Given the description of an element on the screen output the (x, y) to click on. 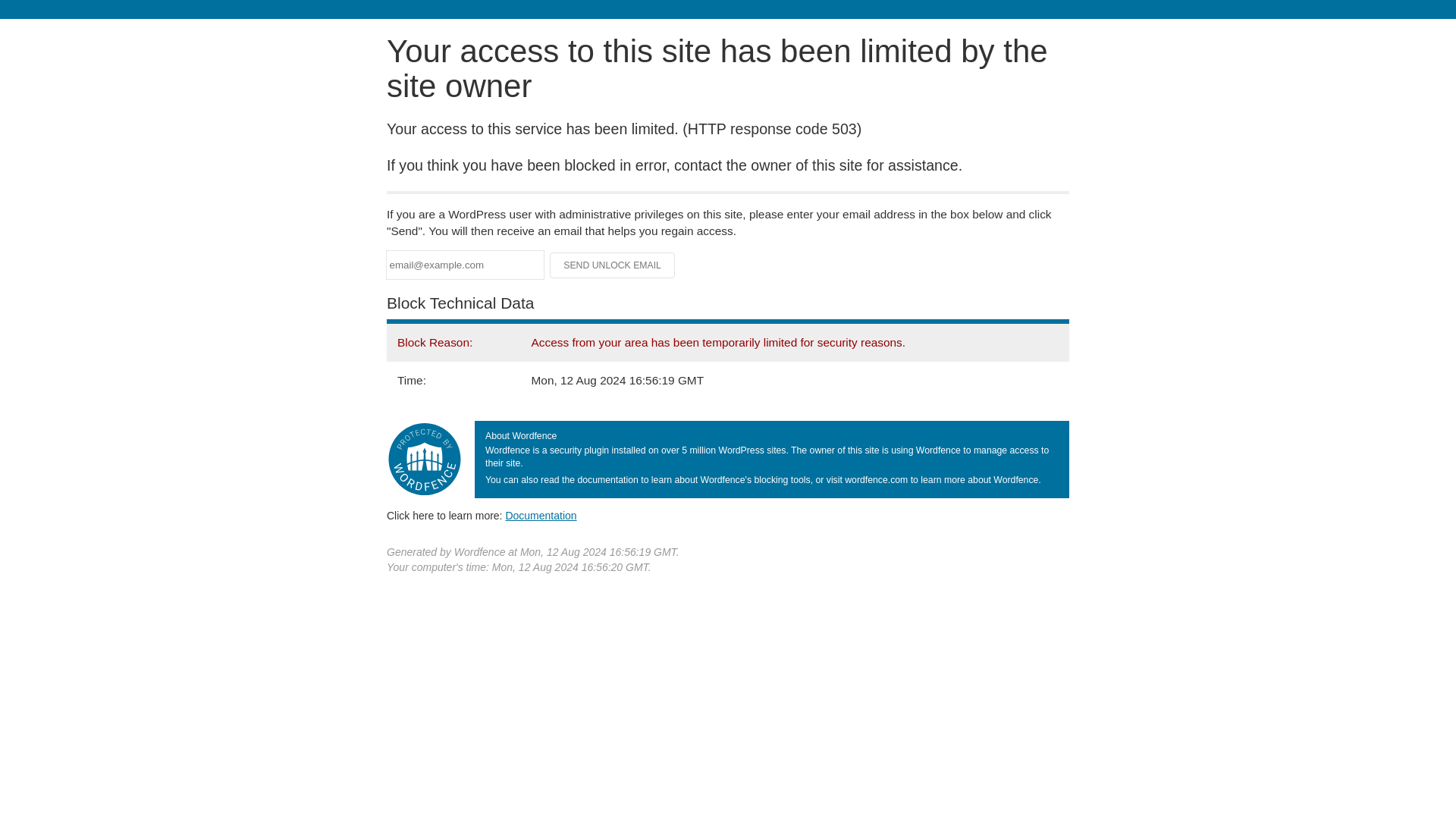
Send Unlock Email (612, 265)
Send Unlock Email (612, 265)
Documentation (540, 515)
